Given the description of an element on the screen output the (x, y) to click on. 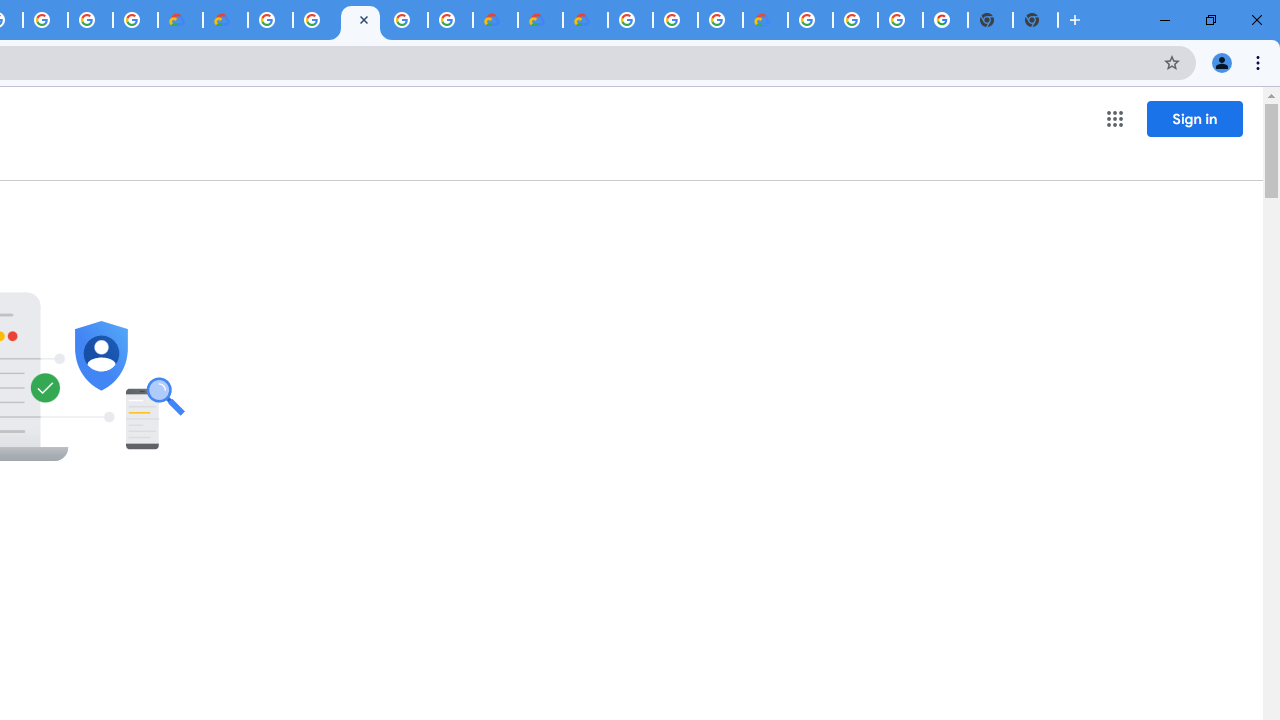
Google Cloud Platform (630, 20)
Browse Chrome as a guest - Computer - Google Chrome Help (720, 20)
Google Cloud Pricing Calculator (540, 20)
Google Cloud Service Health (765, 20)
Google Cloud Platform (404, 20)
New Tab (1035, 20)
Google Cloud Platform (810, 20)
Browse Chrome as a guest - Computer - Google Chrome Help (674, 20)
